Given the description of an element on the screen output the (x, y) to click on. 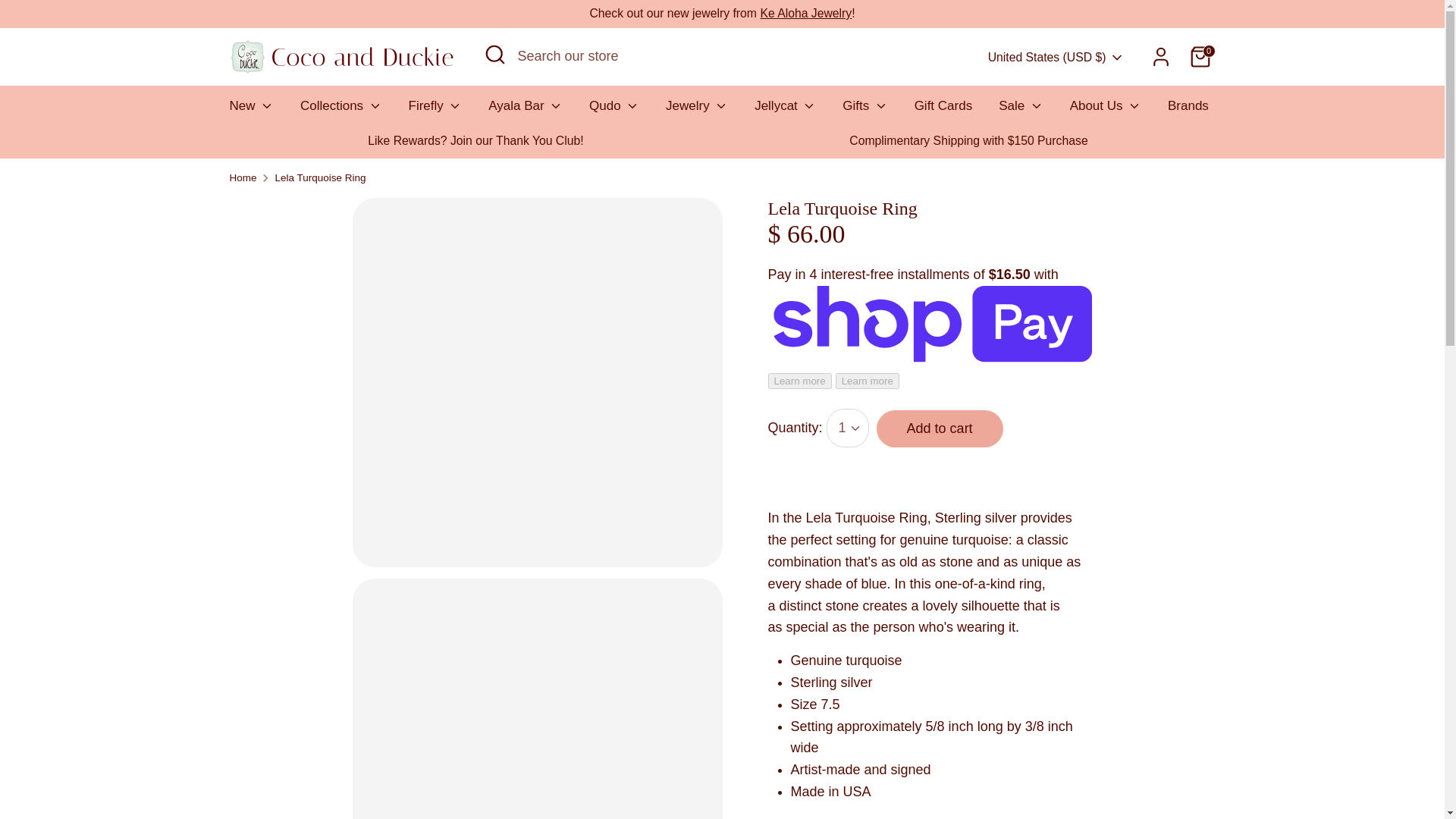
Ke Aloha Jewelry (805, 12)
Ke Aloha Jewelry (805, 12)
Add to cart (940, 428)
